Given the description of an element on the screen output the (x, y) to click on. 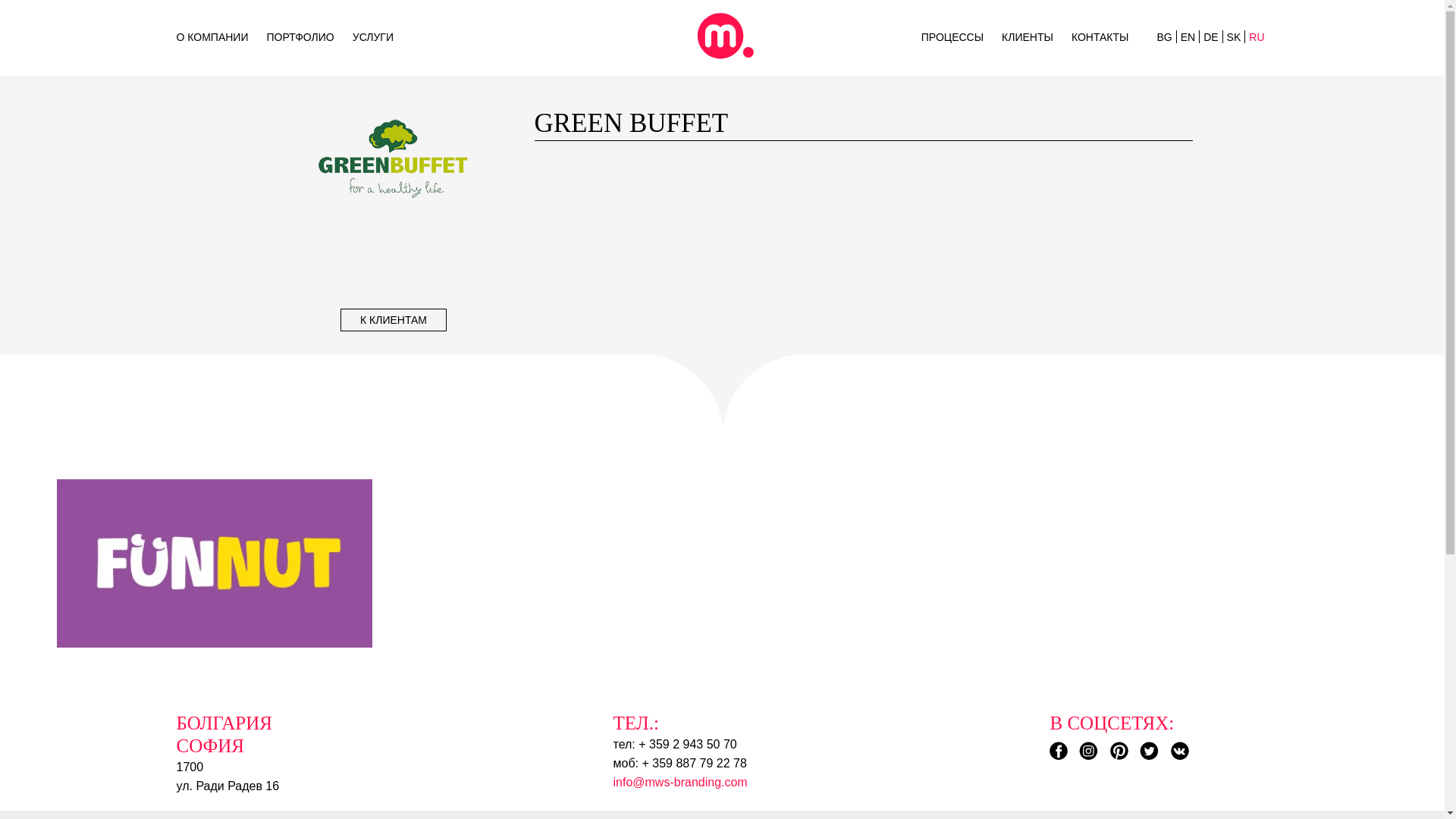
DE (1210, 37)
BG (1164, 37)
EN (1187, 37)
RU (1256, 37)
SK (1234, 37)
